Given the description of an element on the screen output the (x, y) to click on. 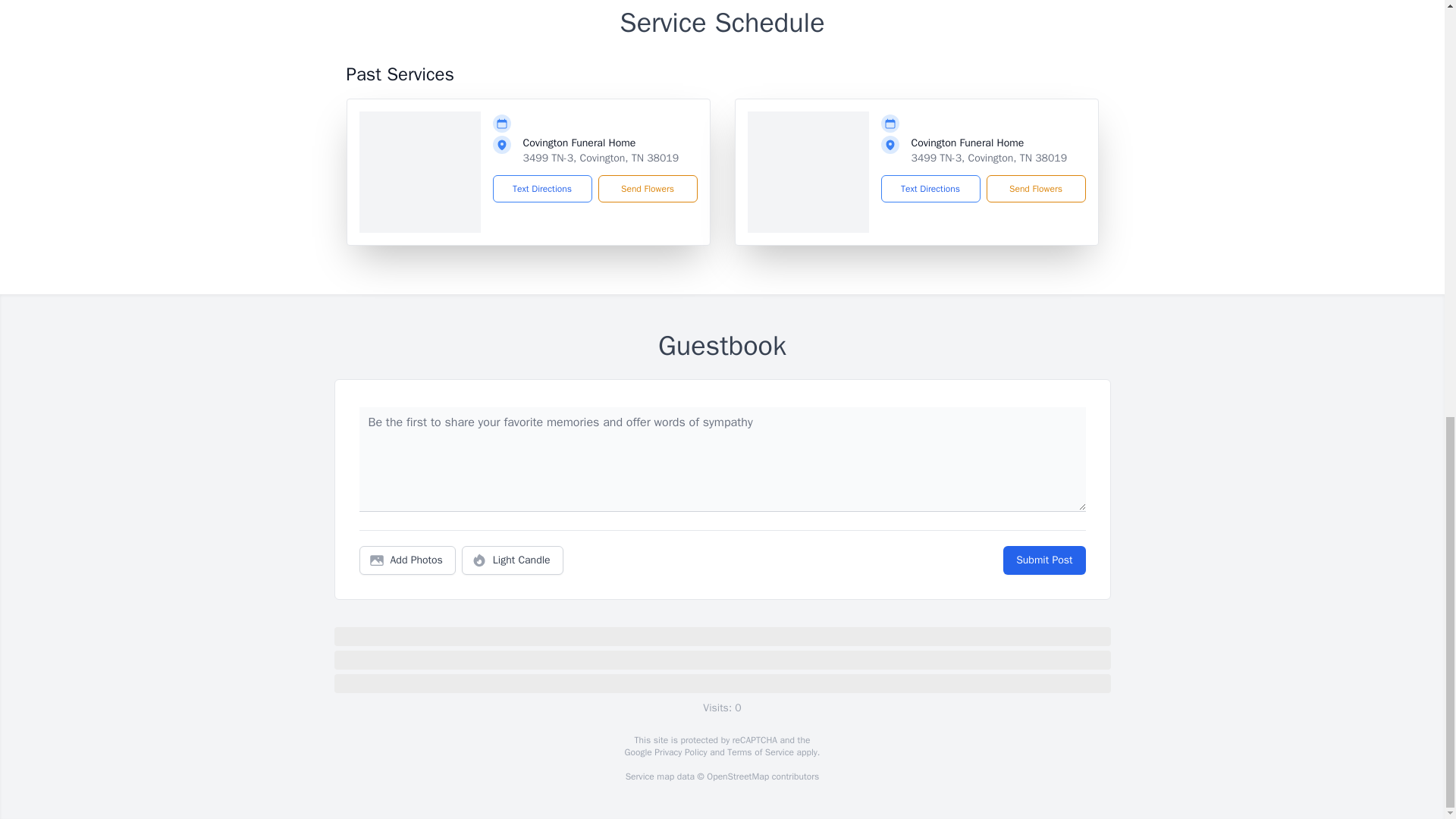
Add Photos (407, 560)
Privacy Policy (679, 752)
Submit Post (1043, 560)
Send Flowers (646, 188)
Text Directions (542, 188)
OpenStreetMap (737, 776)
3499 TN-3, Covington, TN 38019 (989, 157)
Text Directions (929, 188)
Light Candle (512, 560)
Send Flowers (1034, 188)
Terms of Service (759, 752)
3499 TN-3, Covington, TN 38019 (600, 157)
